Given the description of an element on the screen output the (x, y) to click on. 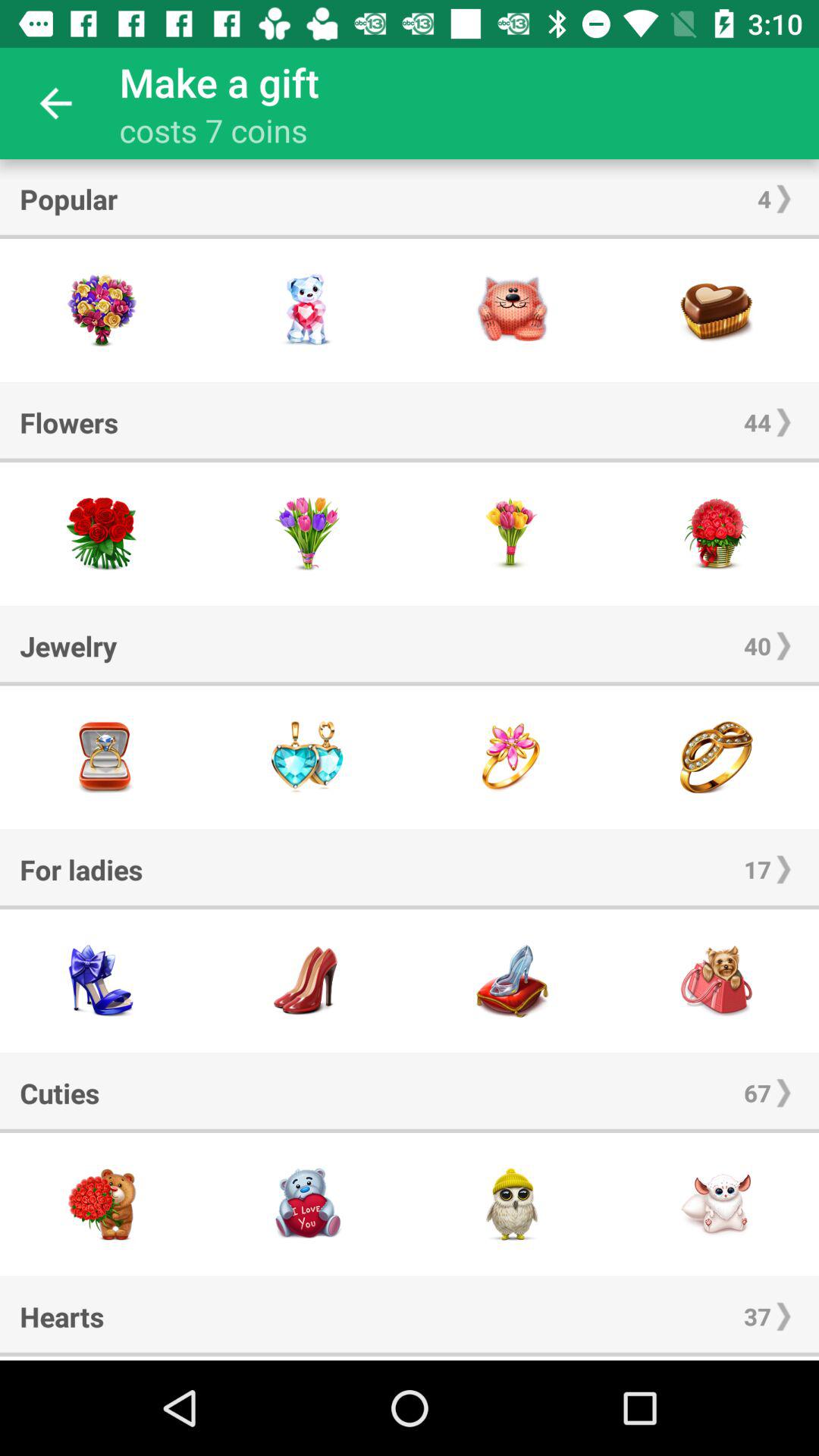
select the gift (306, 1204)
